Given the description of an element on the screen output the (x, y) to click on. 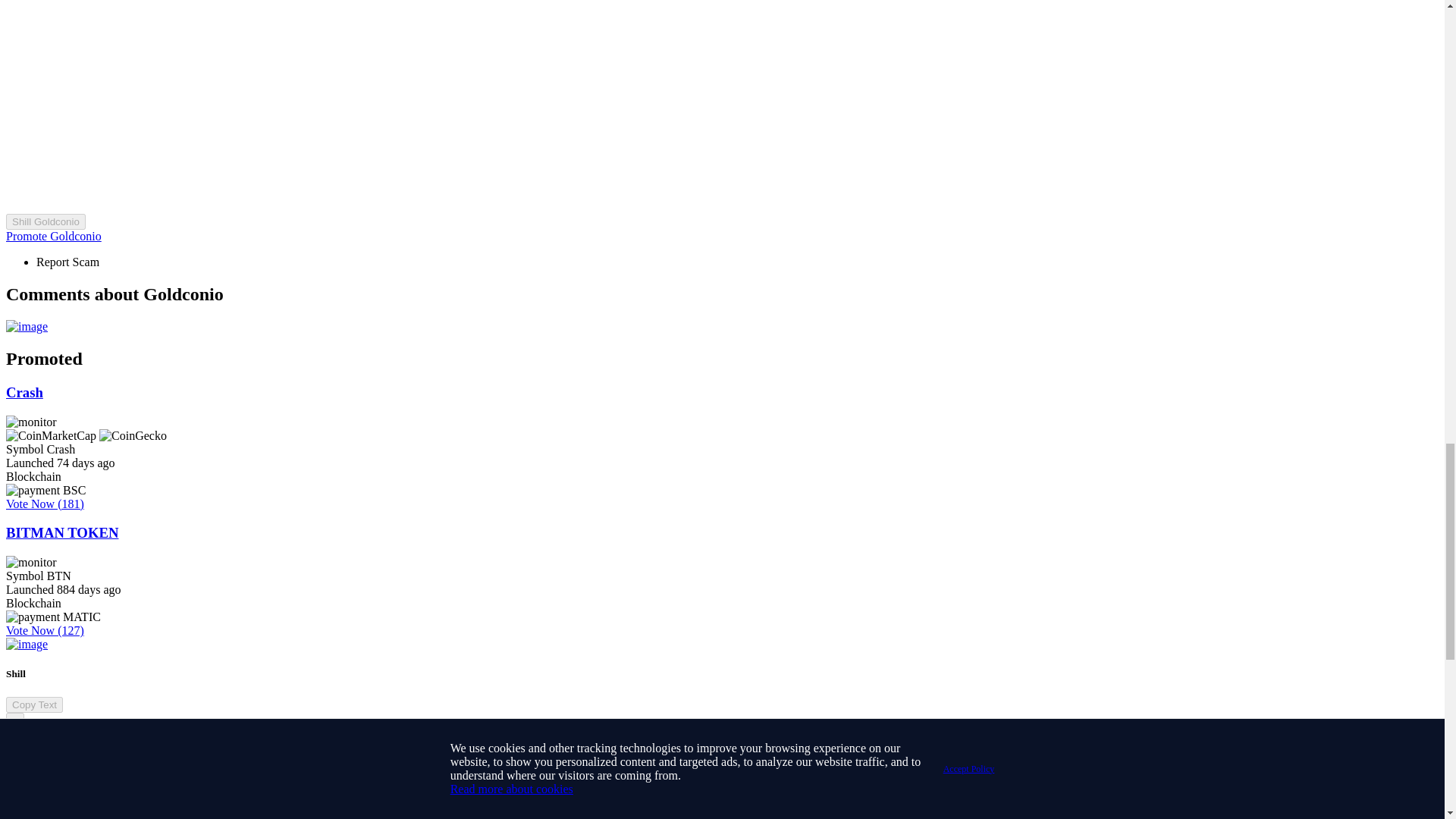
Promote Goldconio (53, 236)
BITMAN TOKEN (61, 532)
Copy Text (33, 704)
Crash (24, 392)
Report Scam (67, 261)
Shill Goldconio (45, 221)
